Given the description of an element on the screen output the (x, y) to click on. 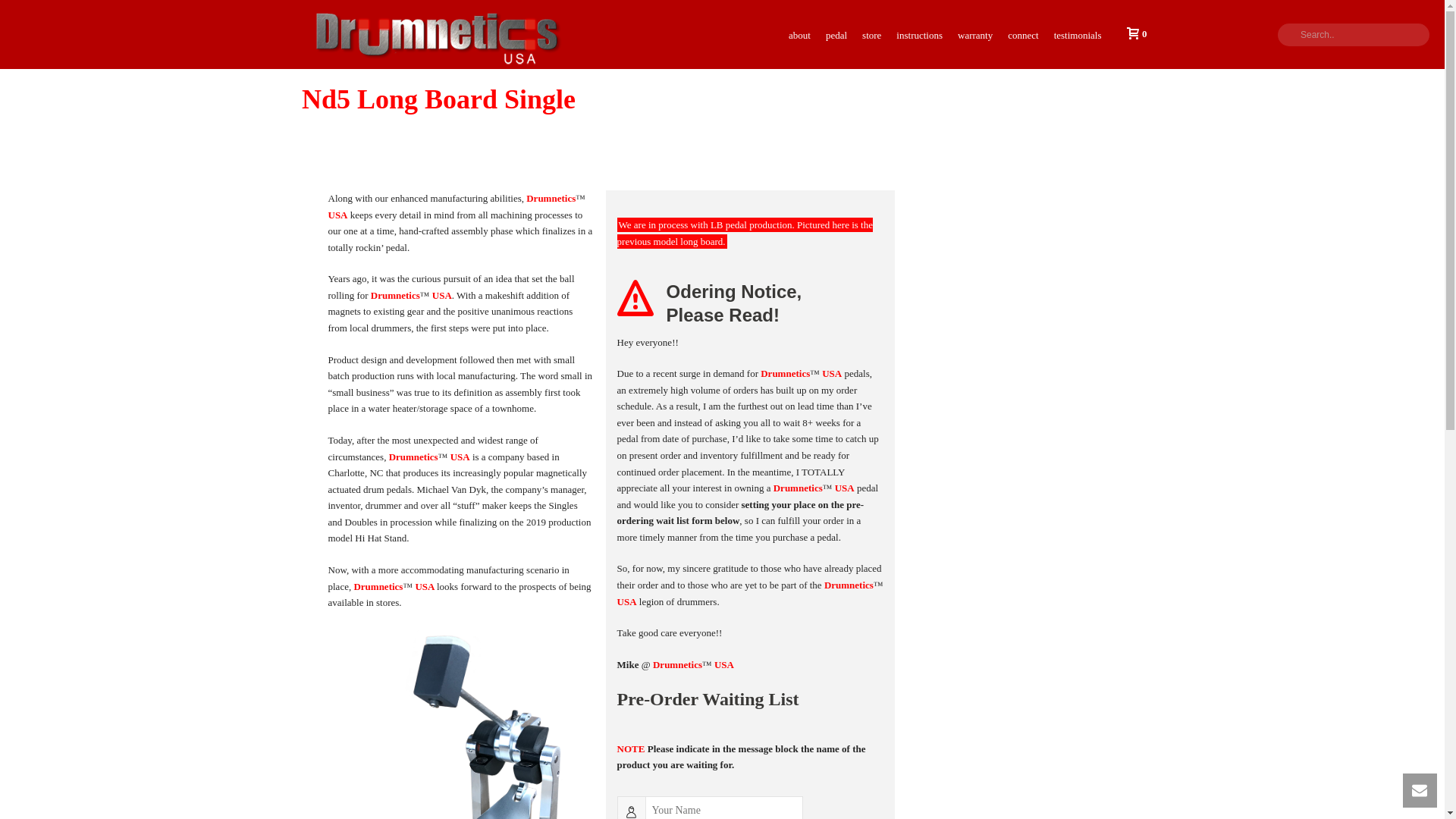
testimonials (1077, 33)
The Only Magnetically Driven Drum Pedal (434, 33)
instructions (919, 33)
0 (1133, 33)
instructions (919, 33)
Nd5 Long board Single Pedal (460, 722)
testimonials (1077, 33)
